Given the description of an element on the screen output the (x, y) to click on. 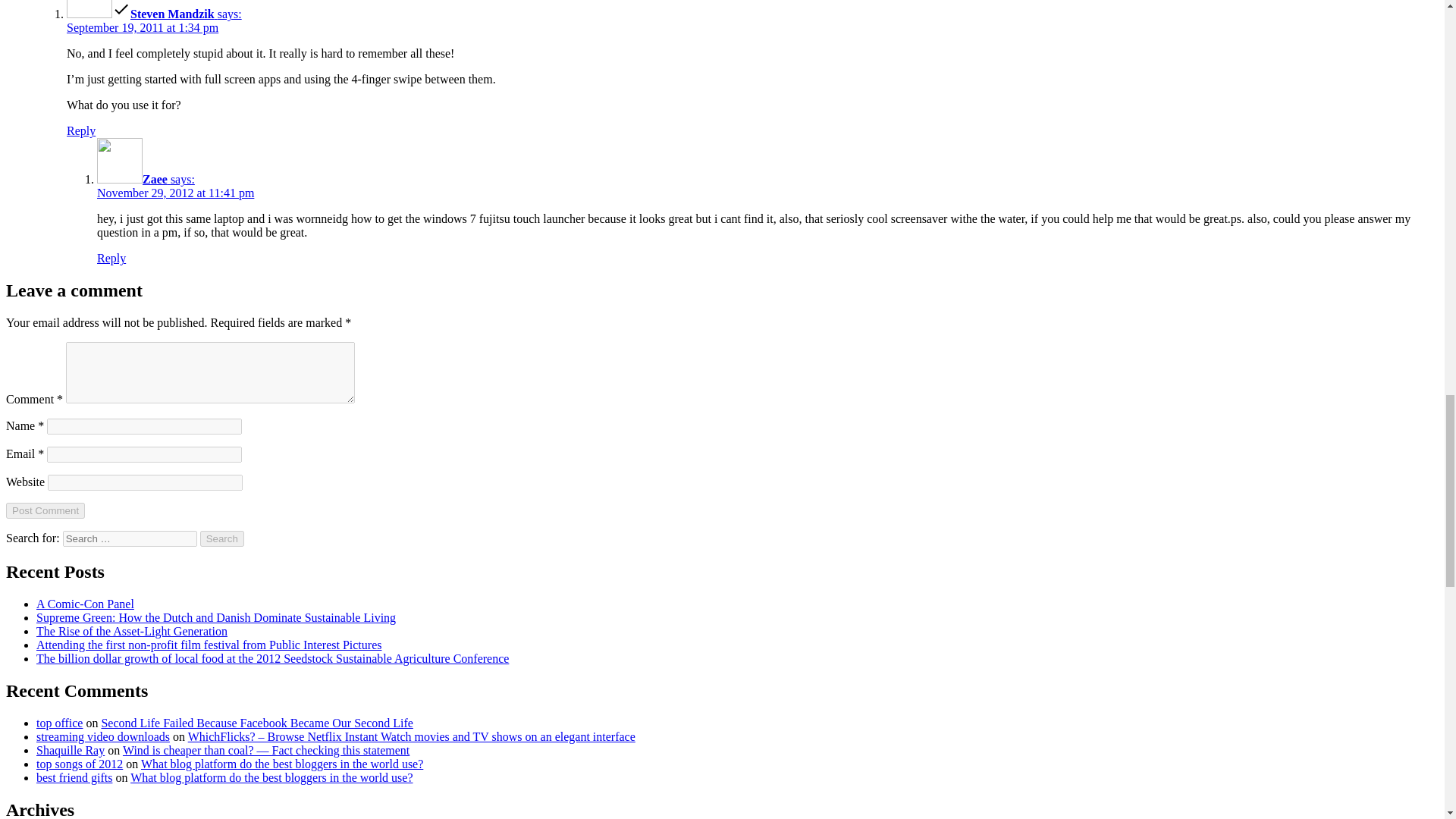
September 19, 2011 at 1:34 pm (142, 27)
September 19, 2011 at 1:34 pm (142, 27)
Zaee says: (146, 178)
Steven Mandzik says: (153, 13)
Reply (81, 130)
Search (222, 538)
Reply (111, 257)
Search (222, 538)
Post Comment (44, 510)
November 29, 2012 at 11:41 pm (175, 192)
November 29, 2012 at 11:41 pm (175, 192)
